Given the description of an element on the screen output the (x, y) to click on. 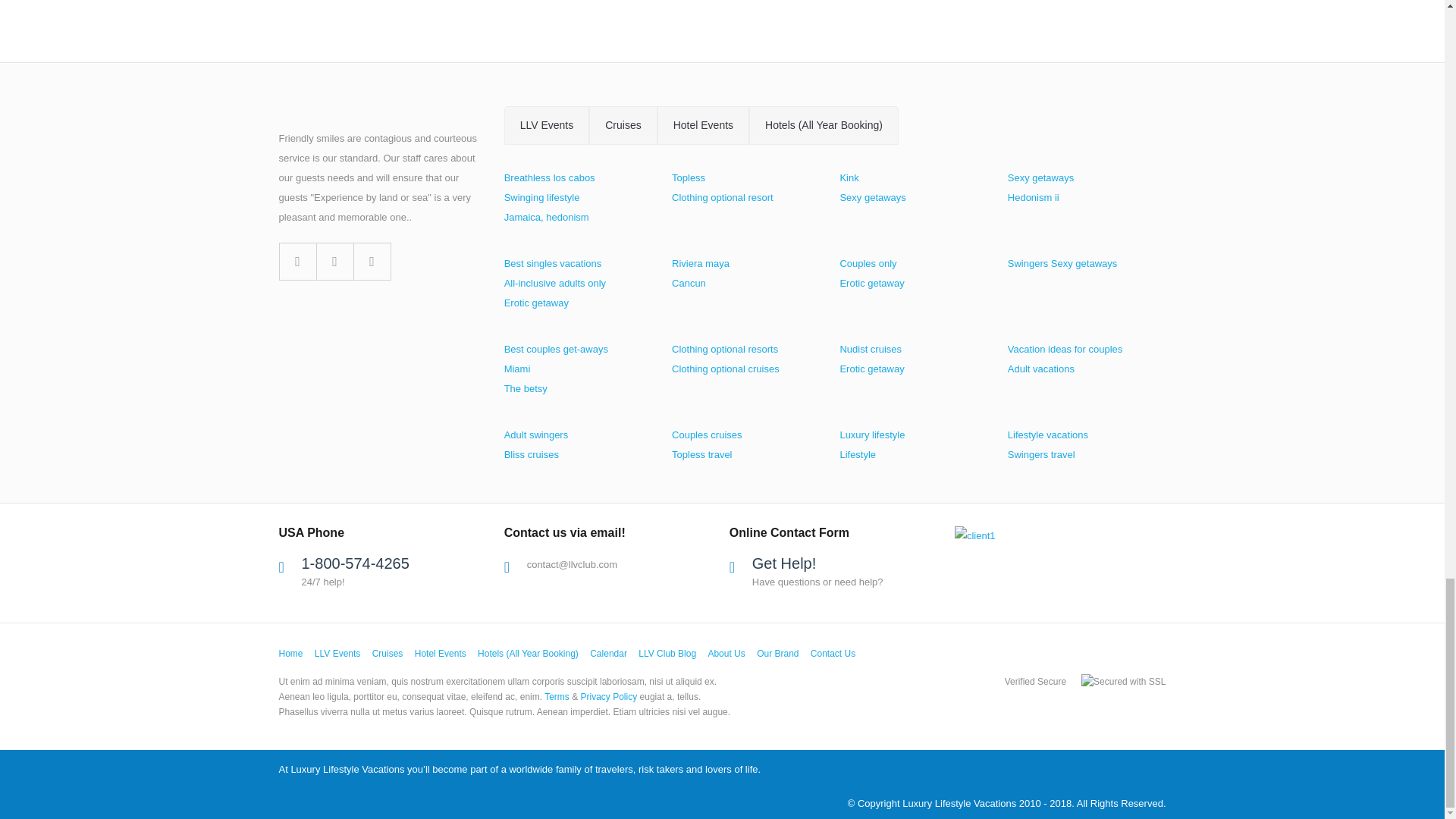
Secured with SSL (1123, 681)
